Given the description of an element on the screen output the (x, y) to click on. 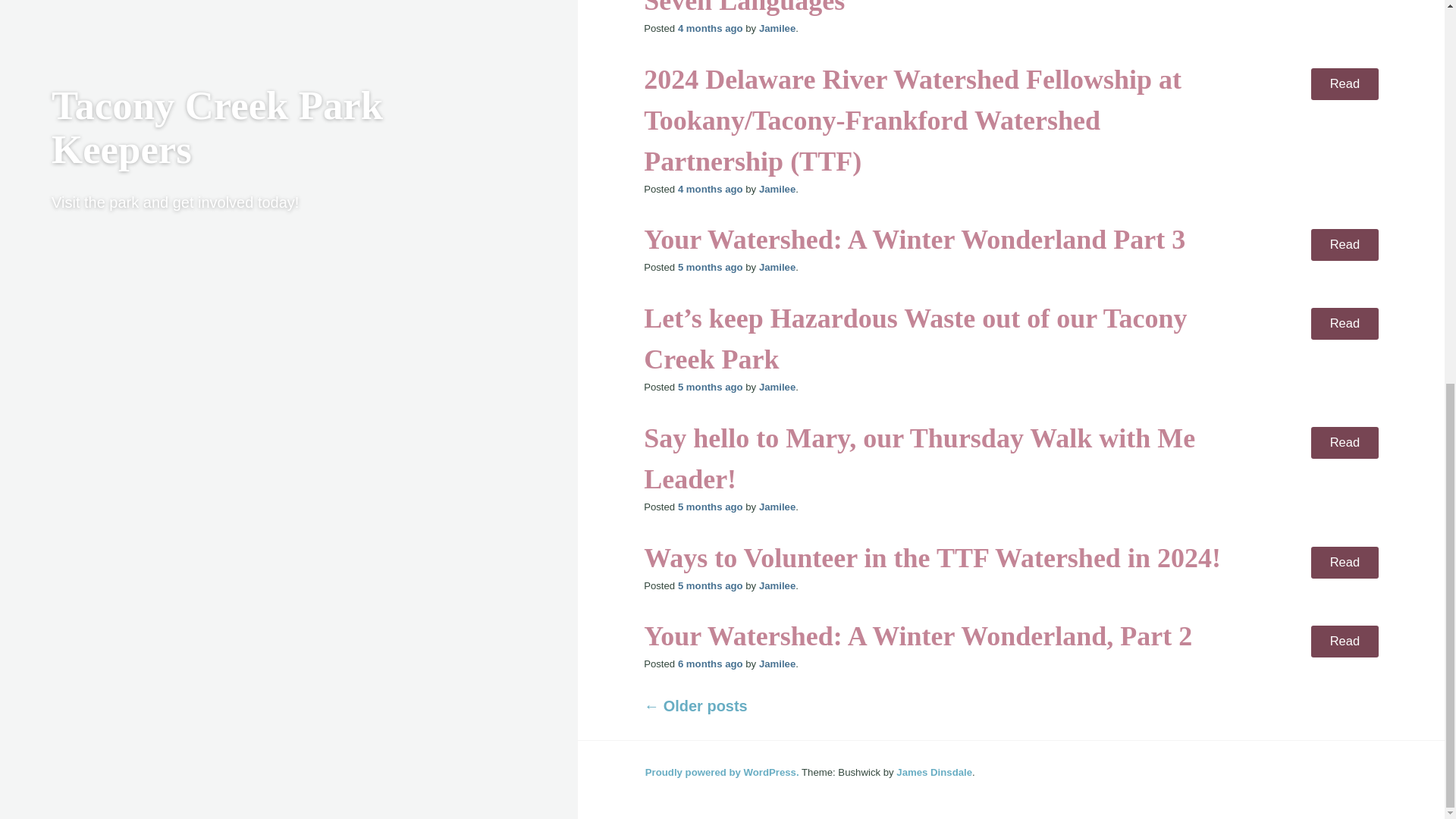
9:25 am (710, 28)
View all posts by Jamilee (776, 28)
